Given the description of an element on the screen output the (x, y) to click on. 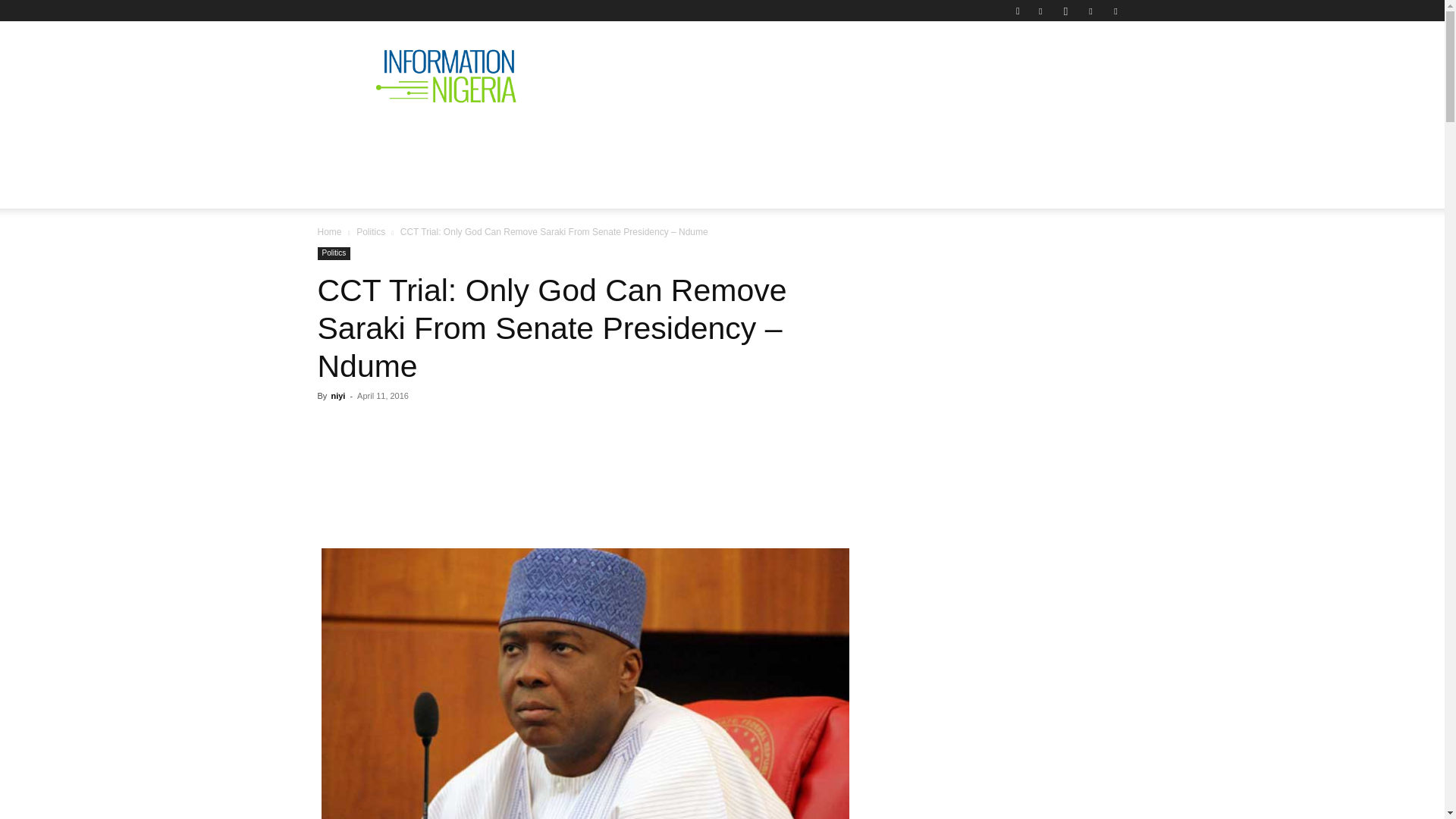
Search (1085, 64)
Nigeria News, Nigerian Newspaper (446, 76)
Youtube (1114, 10)
Facebook (1040, 10)
METRO NEWS (884, 139)
HOME (347, 139)
BBC PIDGIN (779, 139)
SPORTS (974, 139)
Twitter (1090, 10)
Instagram (1065, 10)
